Given the description of an element on the screen output the (x, y) to click on. 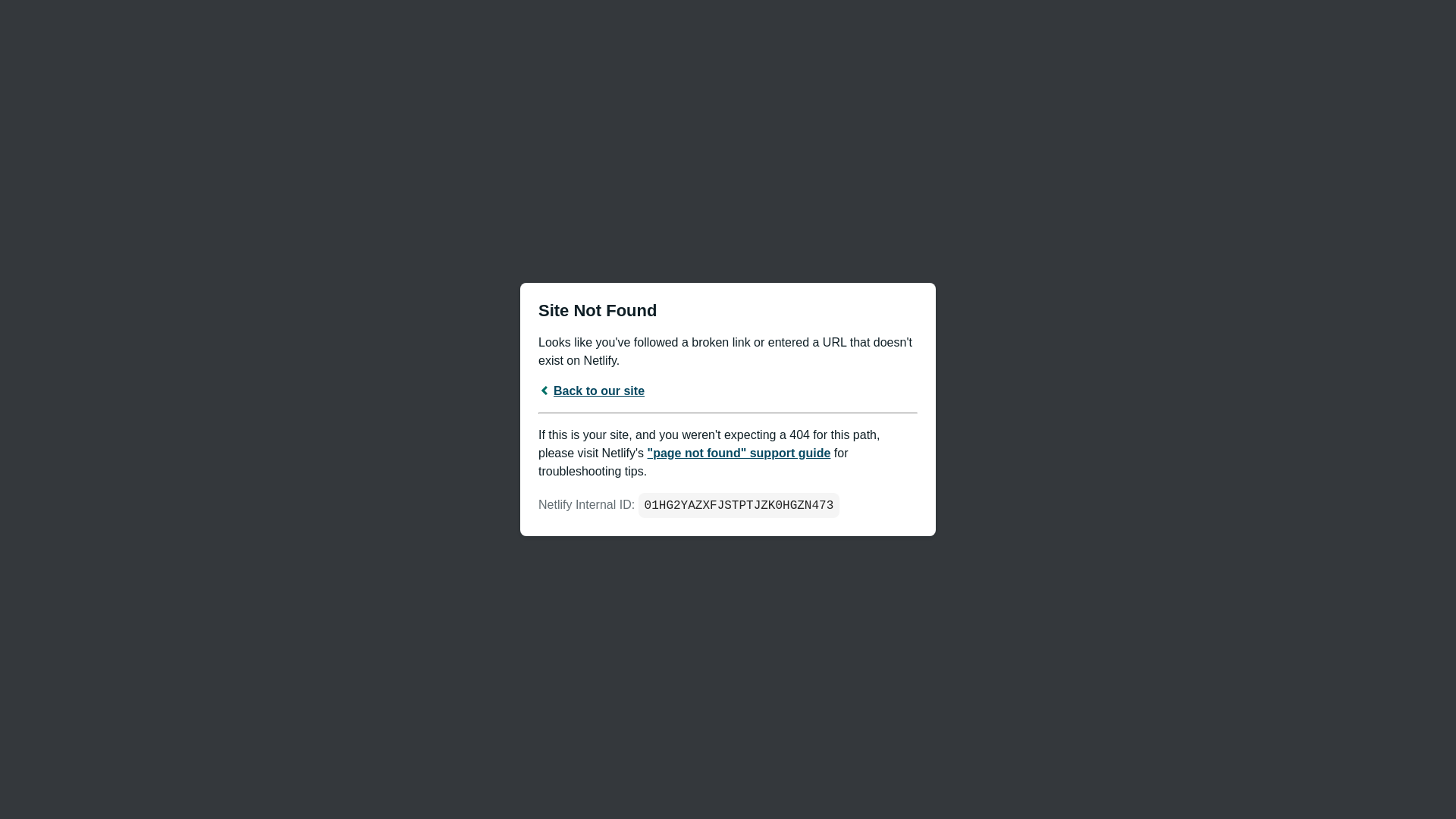
"page not found" support guide Element type: text (739, 452)
Back to our site Element type: text (591, 390)
